Given the description of an element on the screen output the (x, y) to click on. 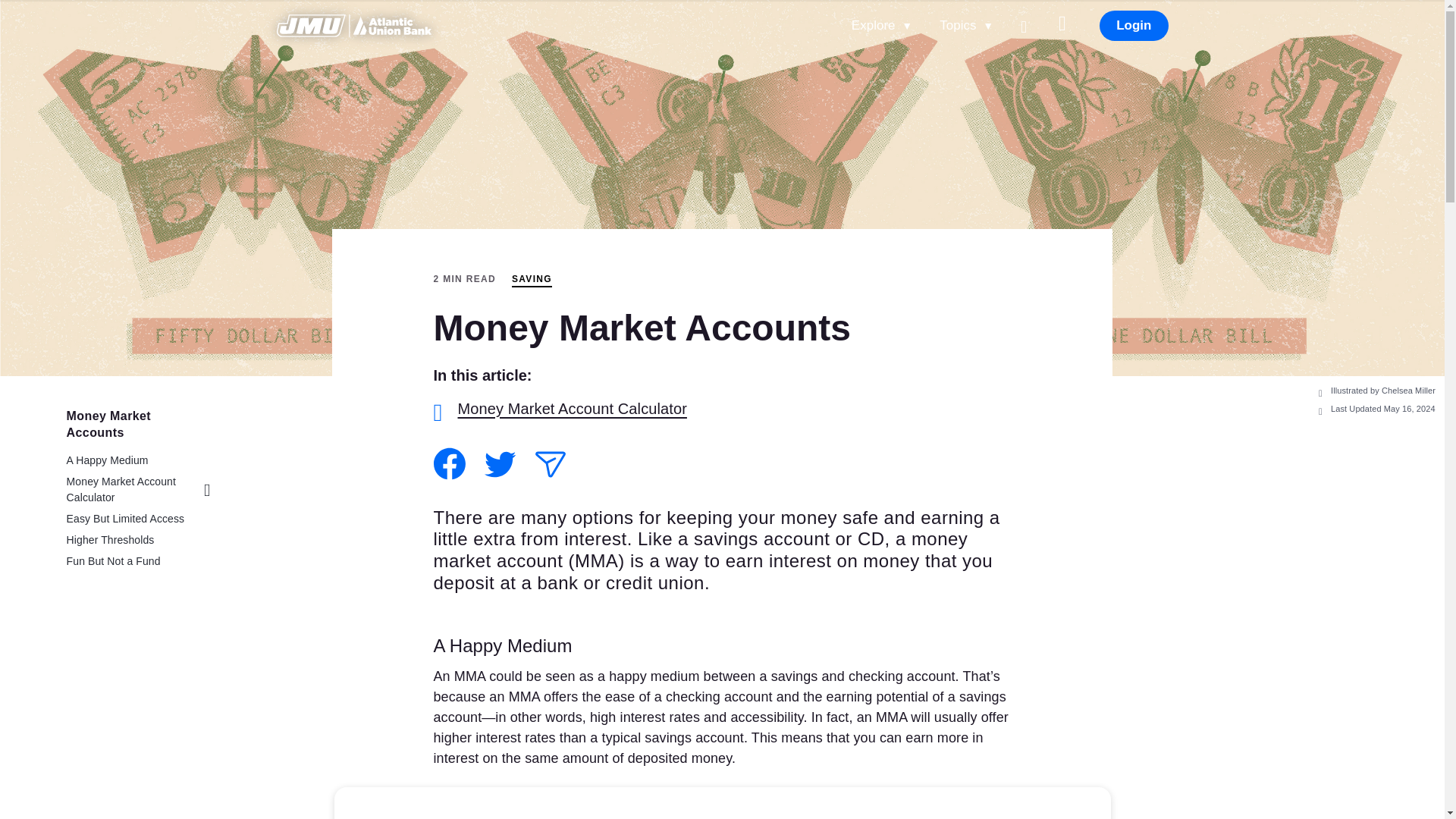
Explore (881, 25)
Topics (965, 25)
